Given the description of an element on the screen output the (x, y) to click on. 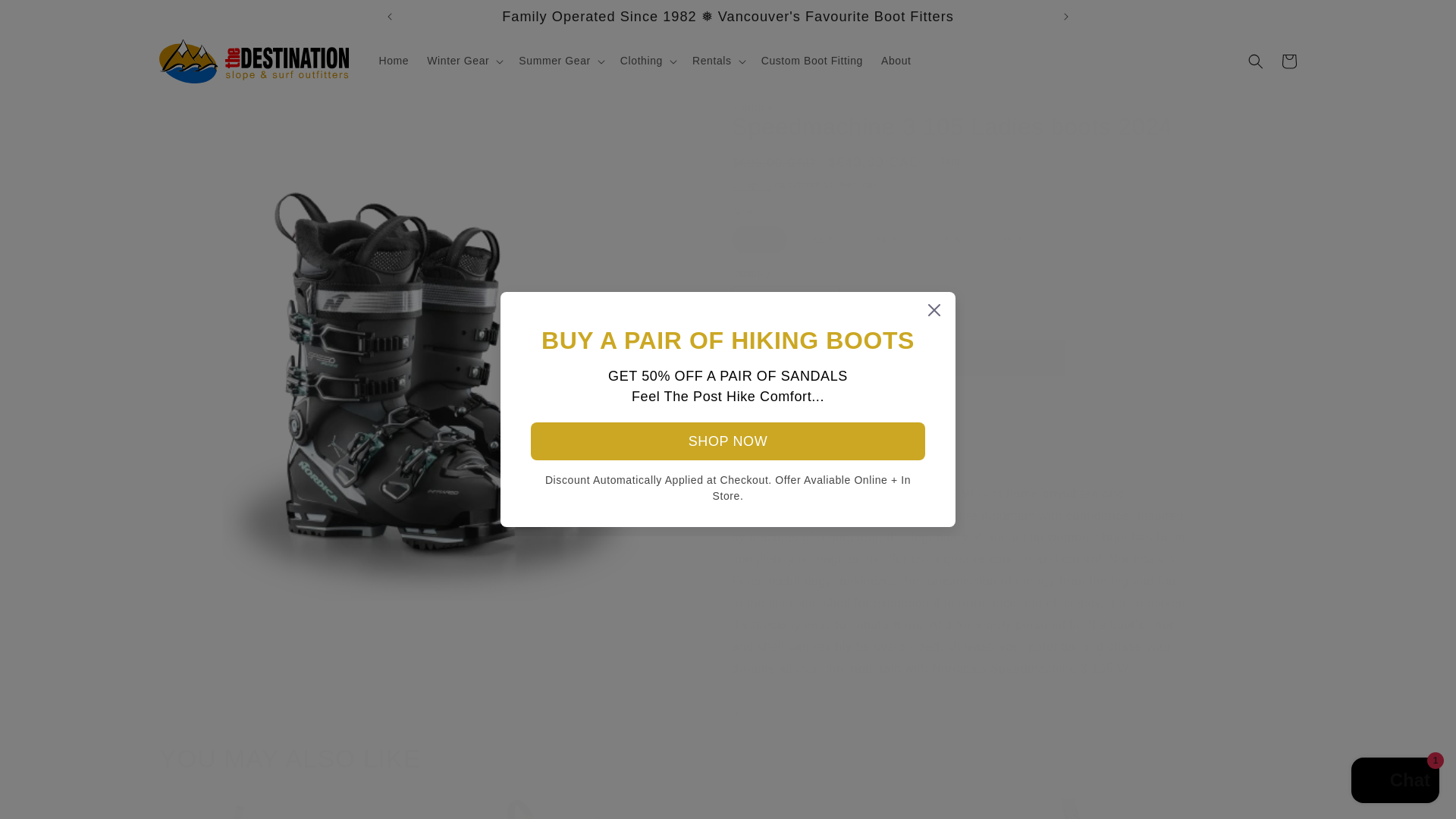
1 (786, 303)
YOU MAY ALSO LIKE (727, 781)
Skip to content (45, 17)
Shopify online store chat (1395, 781)
